Given the description of an element on the screen output the (x, y) to click on. 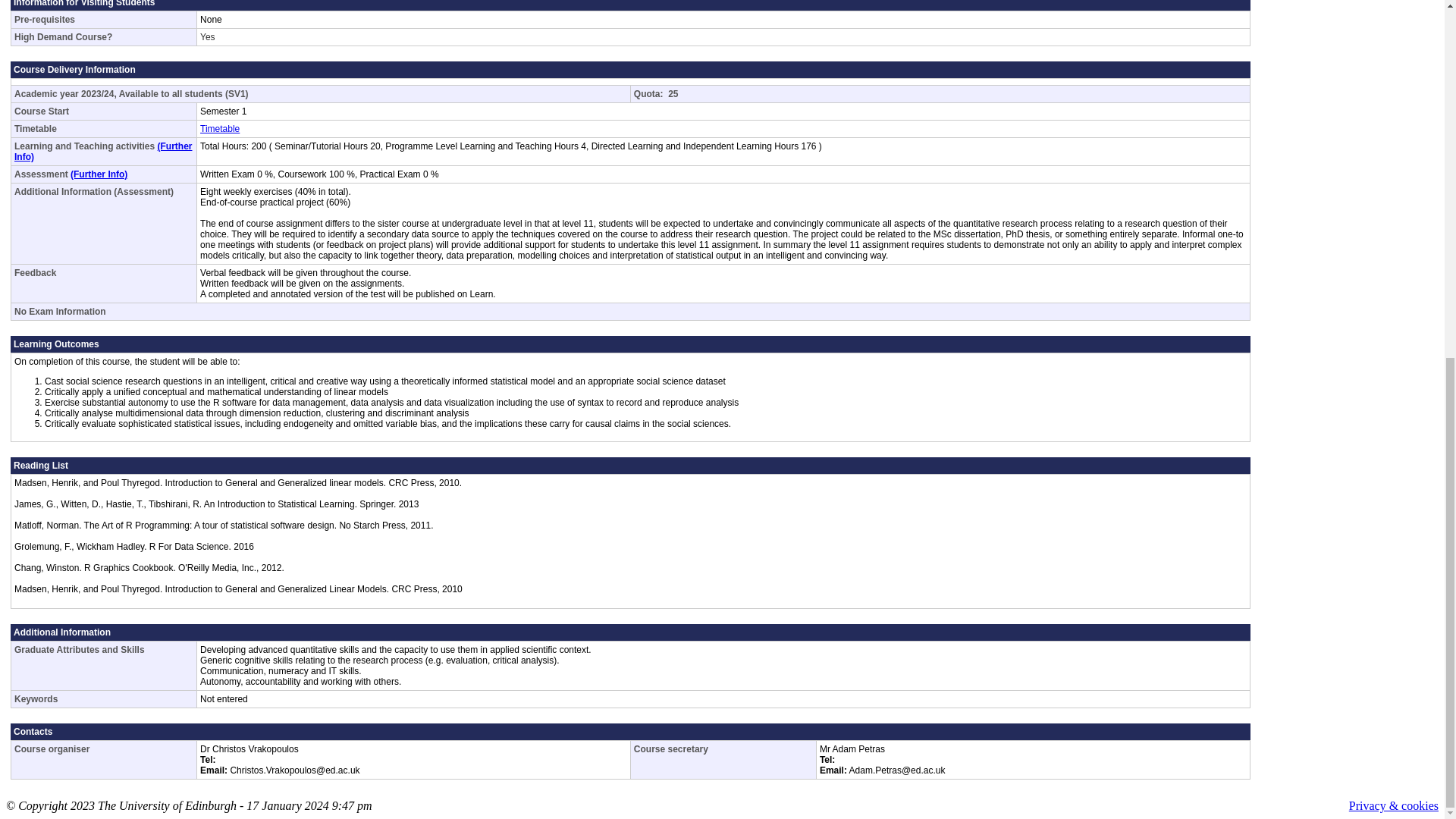
Timetable (220, 128)
